Given the description of an element on the screen output the (x, y) to click on. 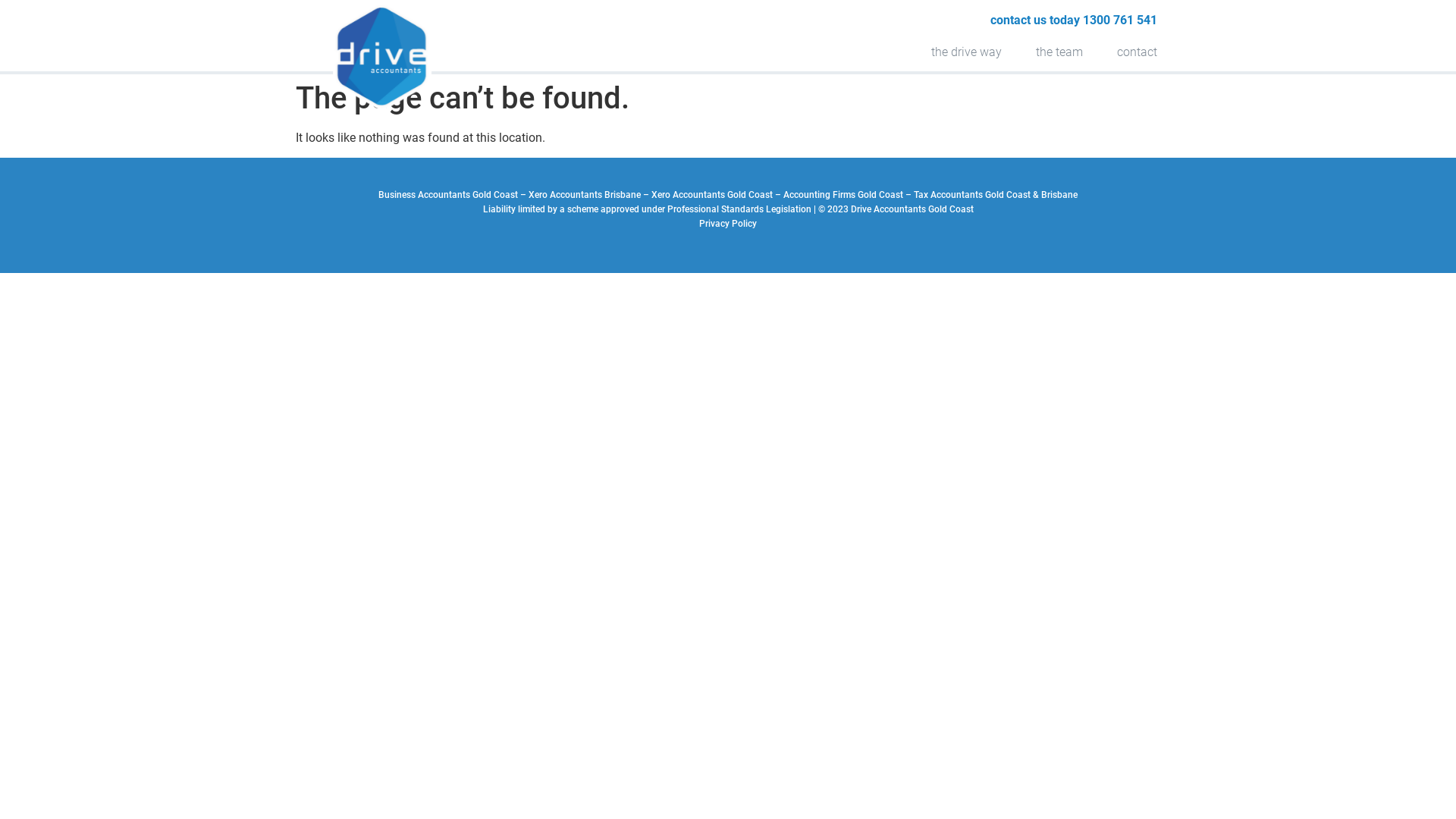
Privacy Policy Element type: text (727, 223)
the drive way Element type: text (966, 51)
the team Element type: text (1058, 51)
contact Element type: text (1137, 51)
contact us today 1300 761 541 Element type: text (1071, 20)
